Given the description of an element on the screen output the (x, y) to click on. 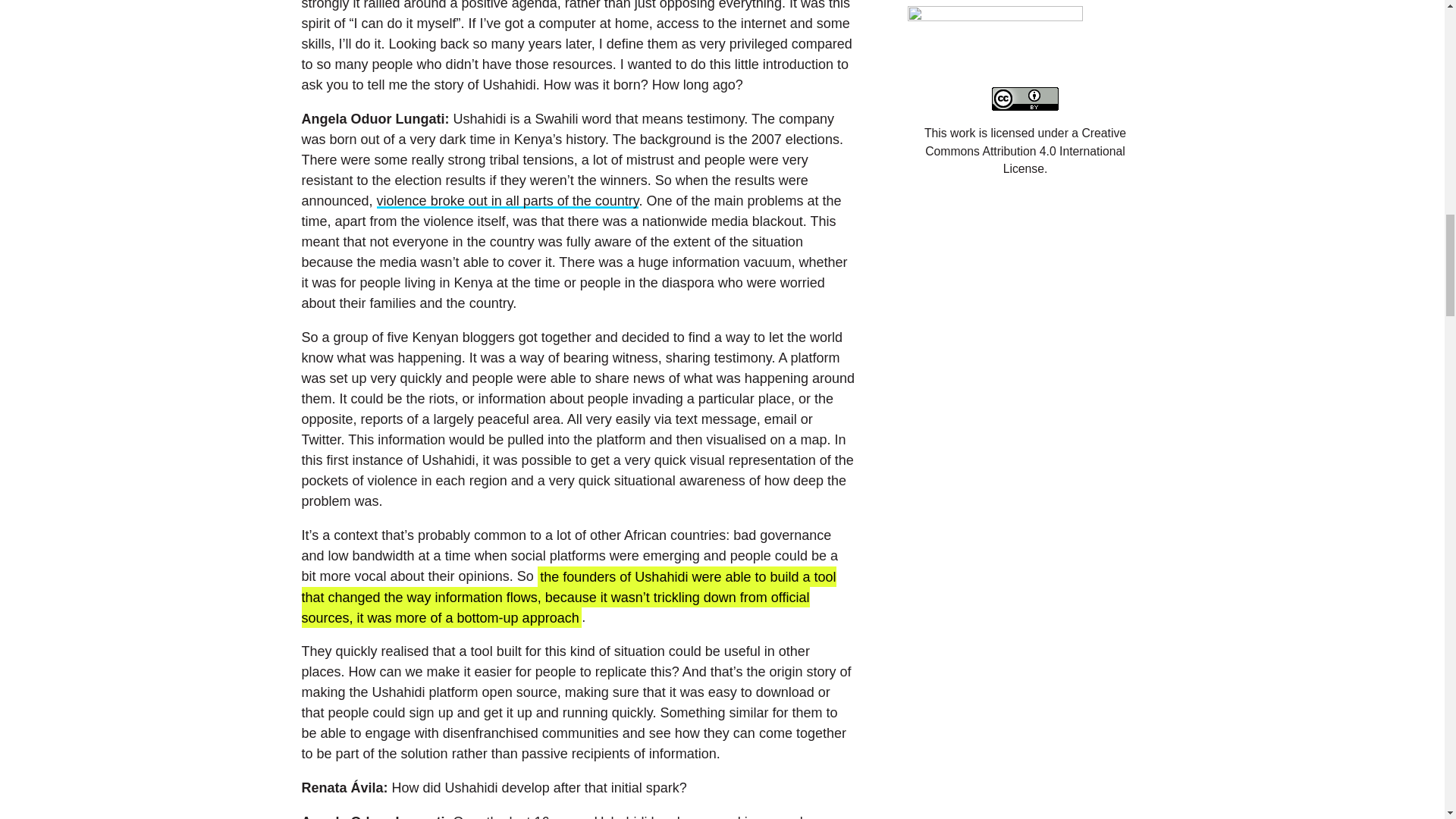
violence broke out in all parts of the country (508, 200)
